Given the description of an element on the screen output the (x, y) to click on. 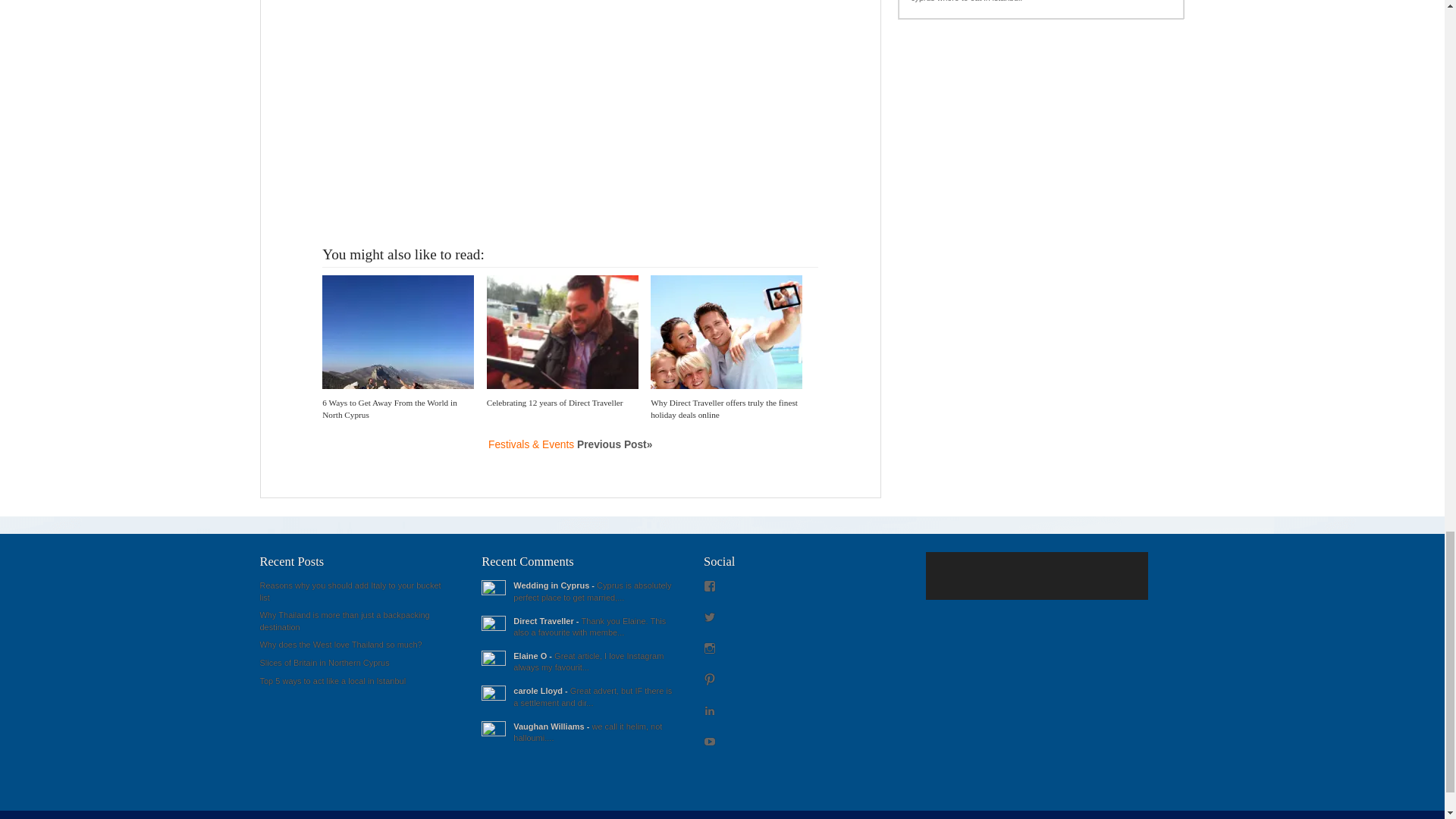
6 Ways to Get Away From the World in North Cyprus (389, 408)
Celebrating 12 years of Direct Traveller (554, 402)
